Given the description of an element on the screen output the (x, y) to click on. 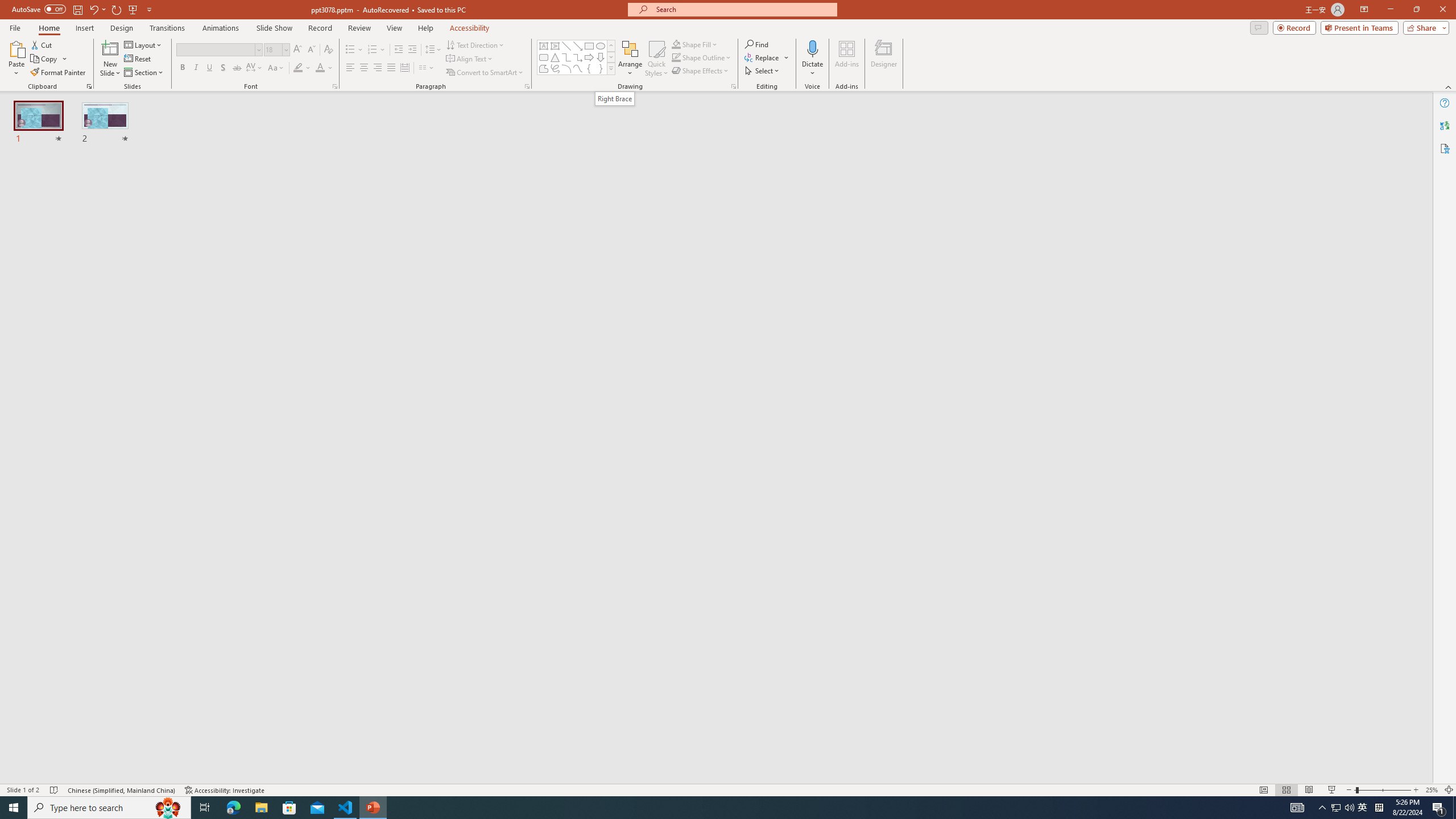
Zoom 25% (1431, 790)
